Given the description of an element on the screen output the (x, y) to click on. 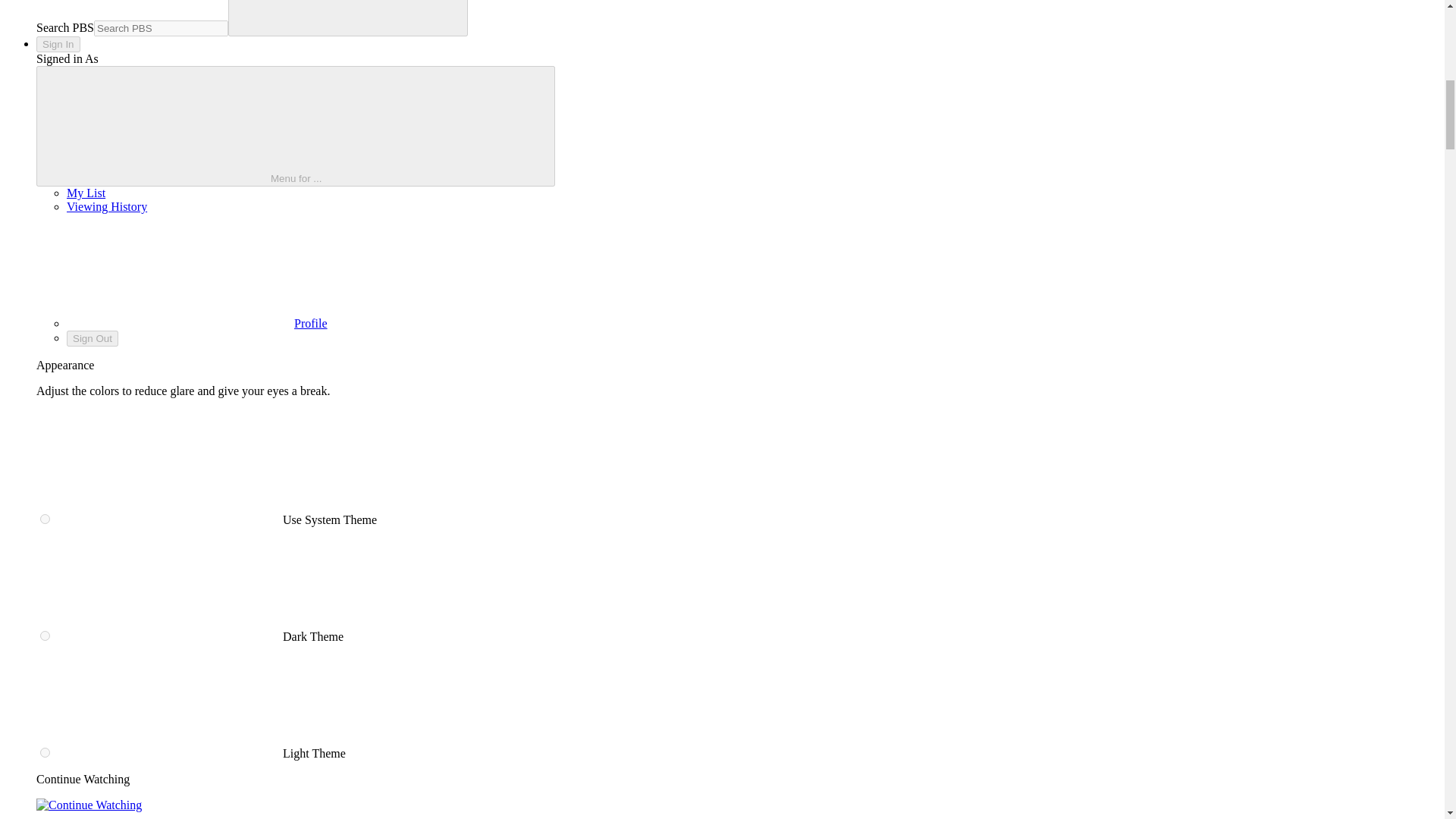
dark (44, 635)
My List (85, 192)
Sign In (58, 44)
Viewing History (106, 205)
Profile (196, 323)
Menu for ... (295, 126)
system (44, 519)
Sign Out (91, 338)
light (44, 752)
